Given the description of an element on the screen output the (x, y) to click on. 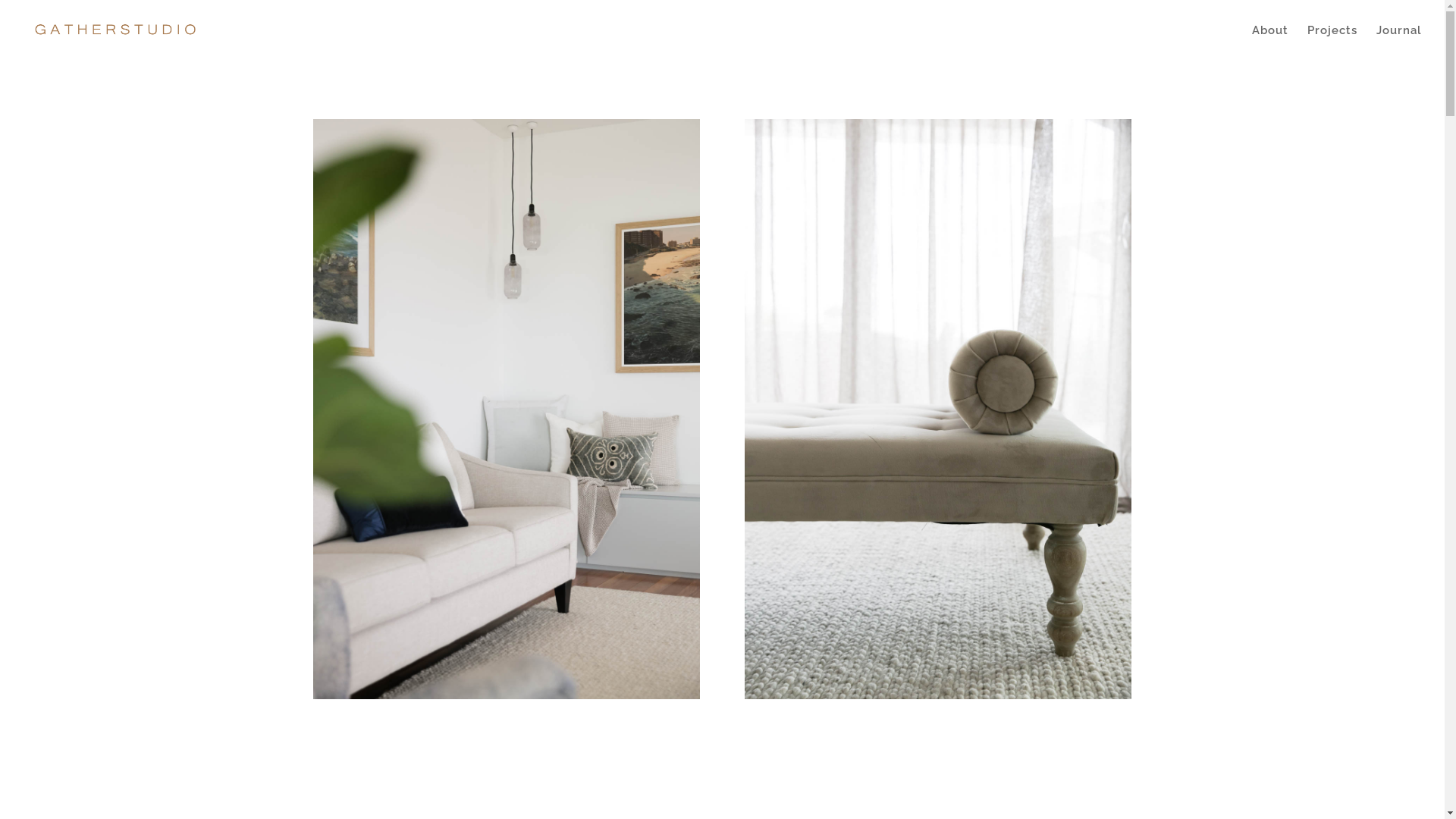
Projects Element type: text (1332, 42)
Journal Element type: text (1398, 42)
About Element type: text (1270, 42)
